Given the description of an element on the screen output the (x, y) to click on. 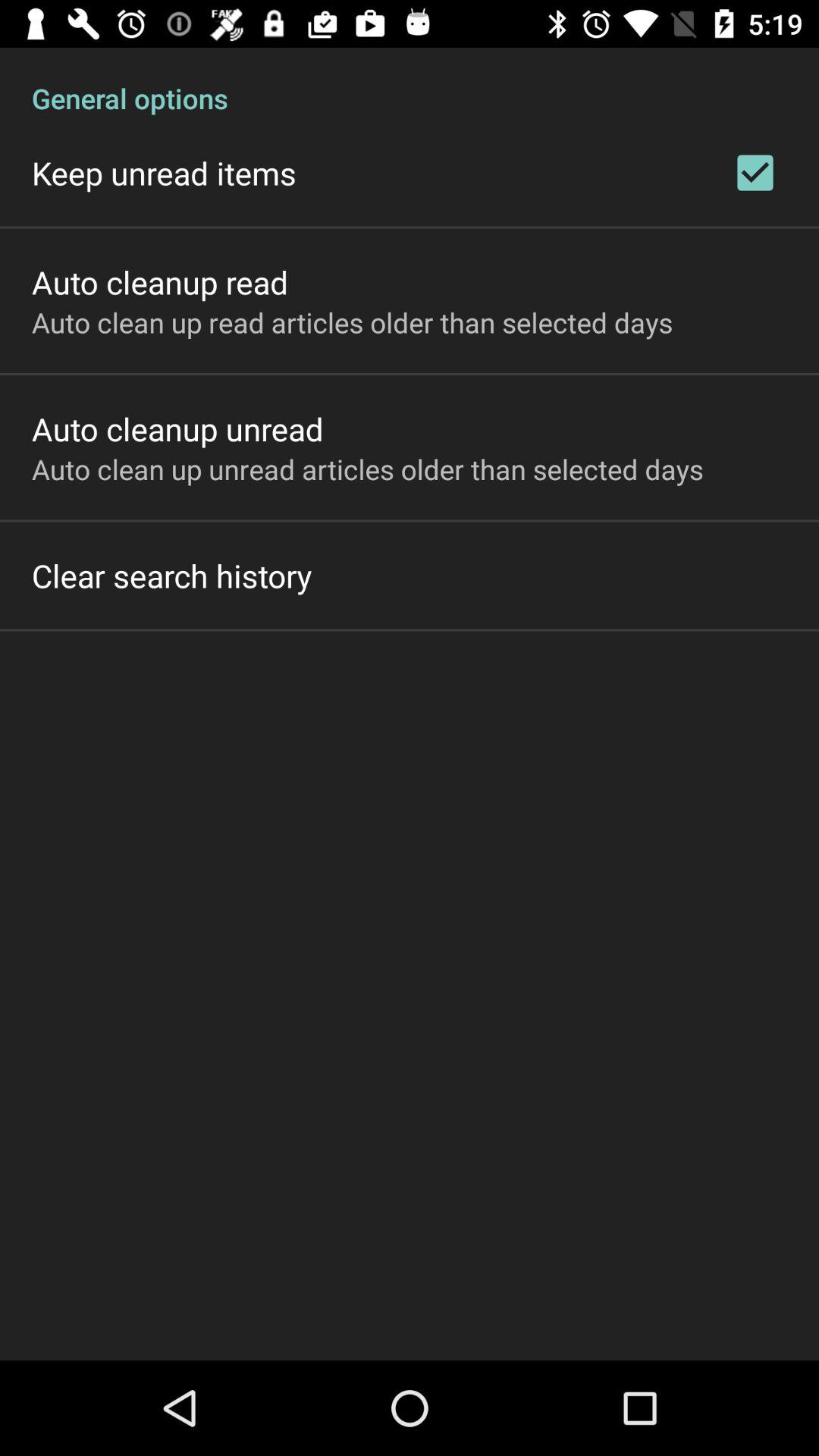
flip to keep unread items (163, 172)
